Given the description of an element on the screen output the (x, y) to click on. 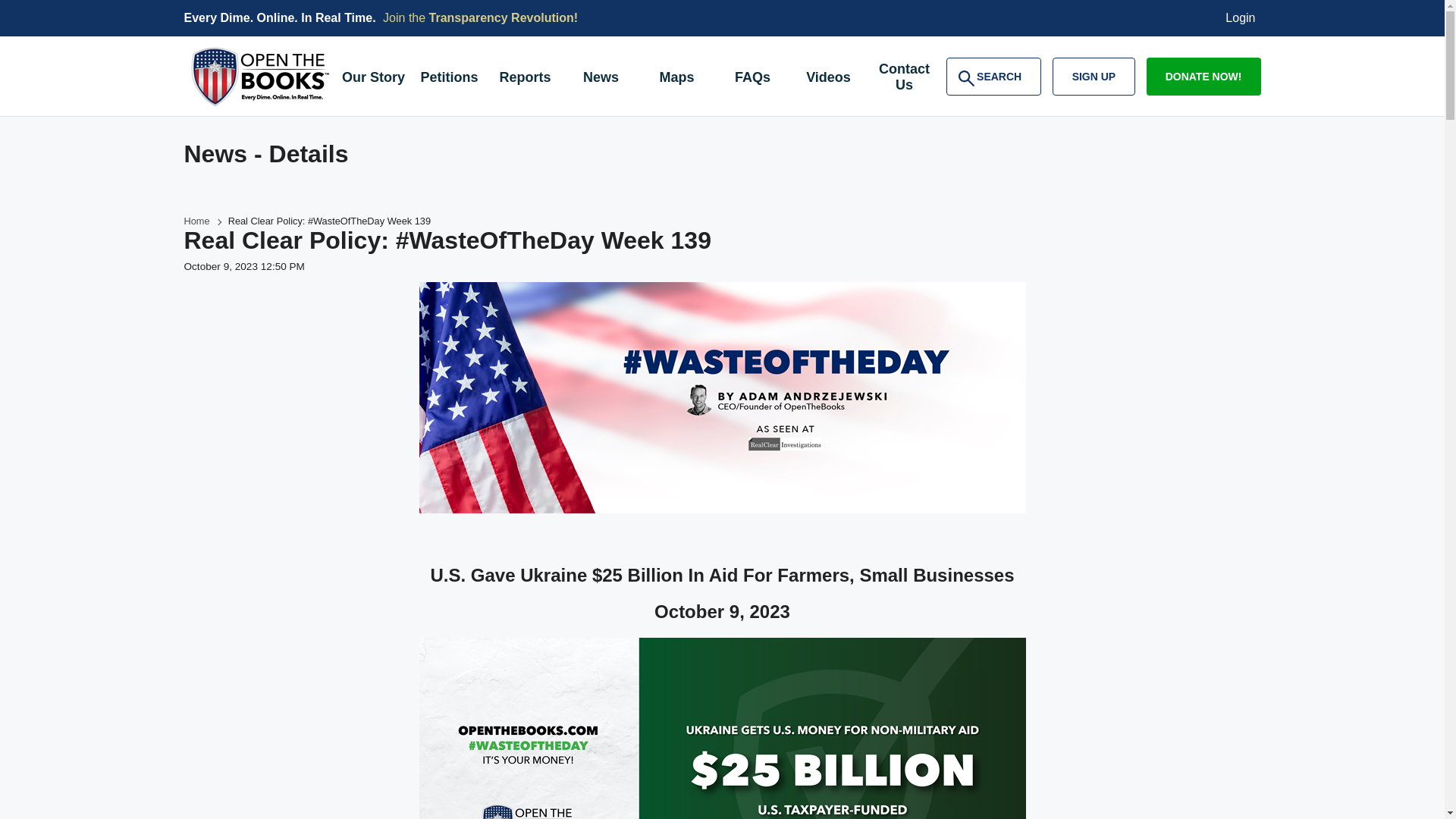
DONATE NOW! (1203, 76)
Videos (828, 78)
Petitions (448, 78)
Home (196, 220)
SIGN UP (1093, 76)
Our Story (372, 78)
News (600, 78)
Maps (676, 78)
Reports (524, 78)
Transparency Revolution! (503, 17)
Contact Us (993, 76)
Login (904, 78)
FAQs (1240, 18)
